Given the description of an element on the screen output the (x, y) to click on. 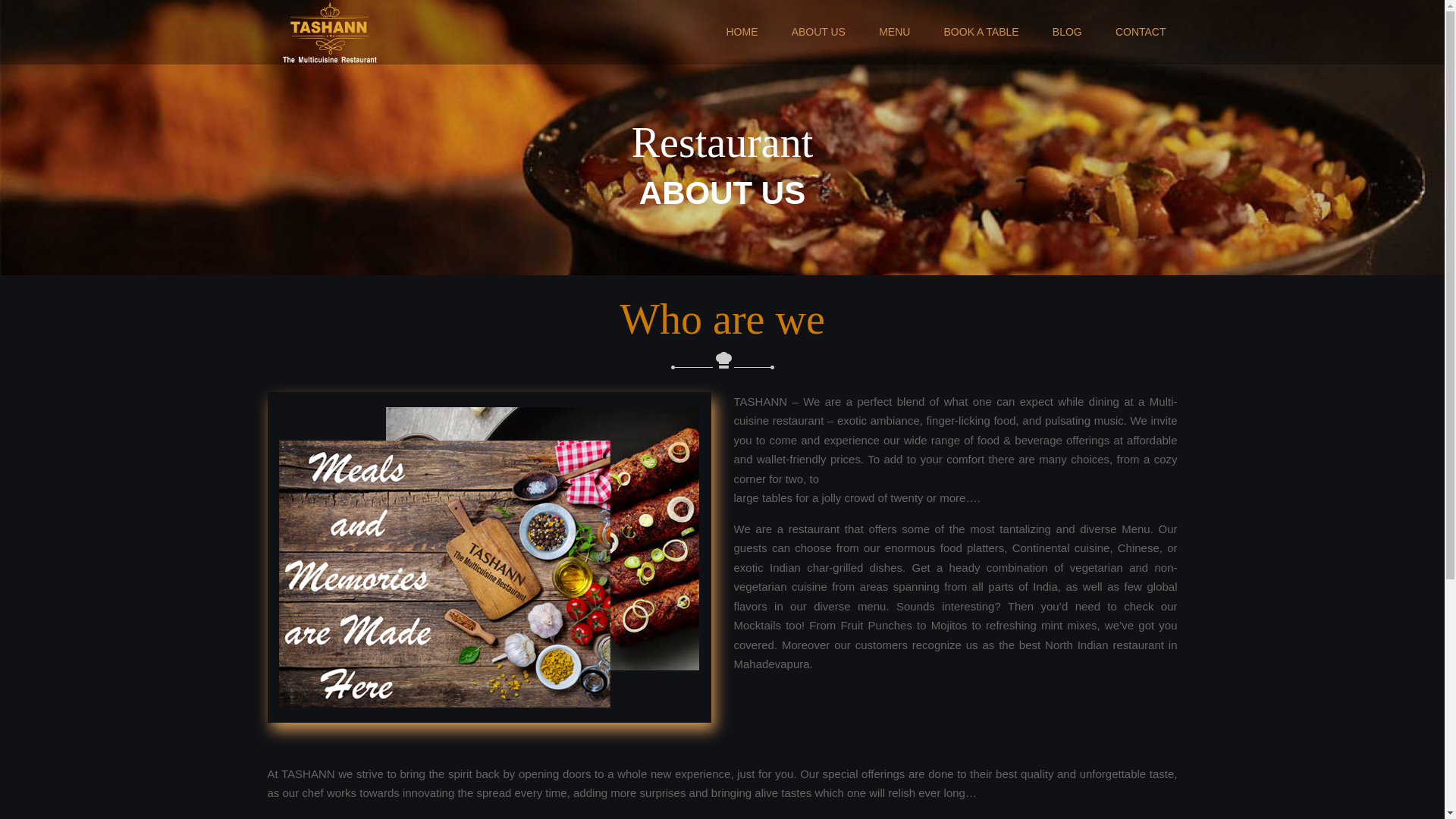
Blog (1066, 32)
Home (741, 32)
BOOK A TABLE (980, 32)
Menu (893, 32)
ABOUT US (818, 32)
CONTACT (1140, 32)
Untitled-1 copy (488, 556)
BLOG (1066, 32)
HOME (741, 32)
Contact (1140, 32)
About Us (818, 32)
Book A Table (980, 32)
MENU (893, 32)
